Given the description of an element on the screen output the (x, y) to click on. 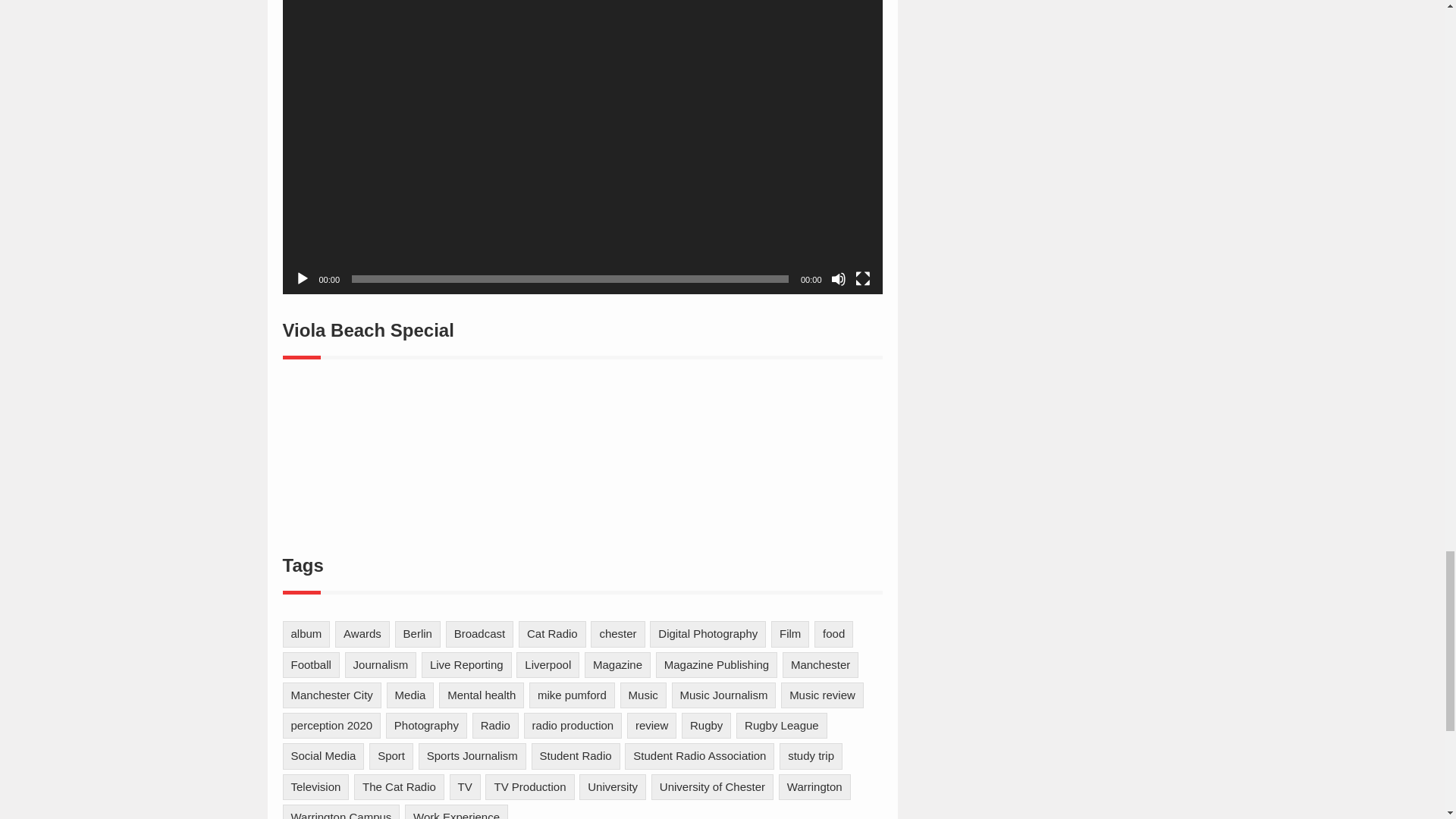
Play (301, 278)
Fullscreen (863, 278)
Mute (838, 278)
